Given the description of an element on the screen output the (x, y) to click on. 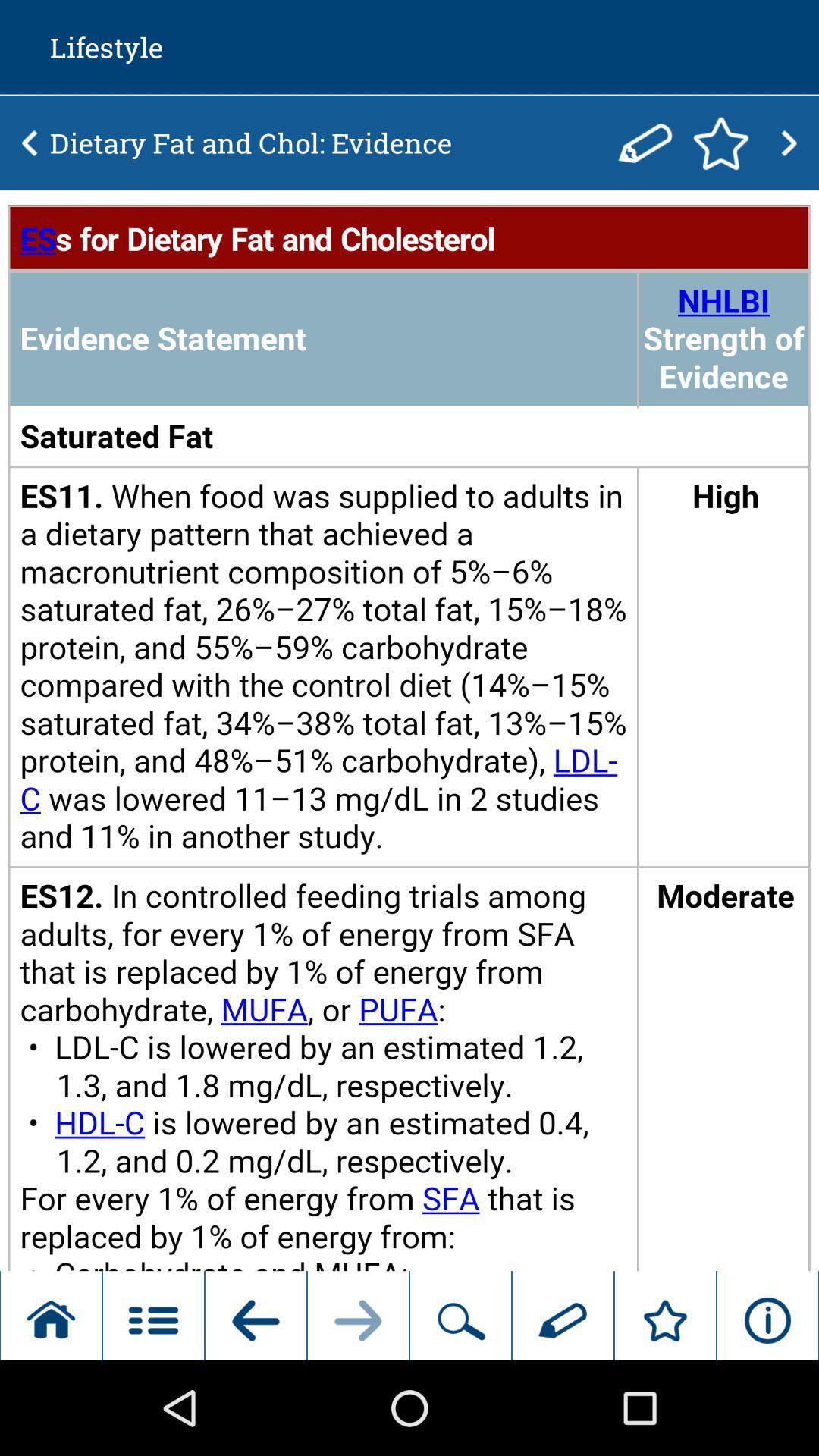
to go back (30, 143)
